Given the description of an element on the screen output the (x, y) to click on. 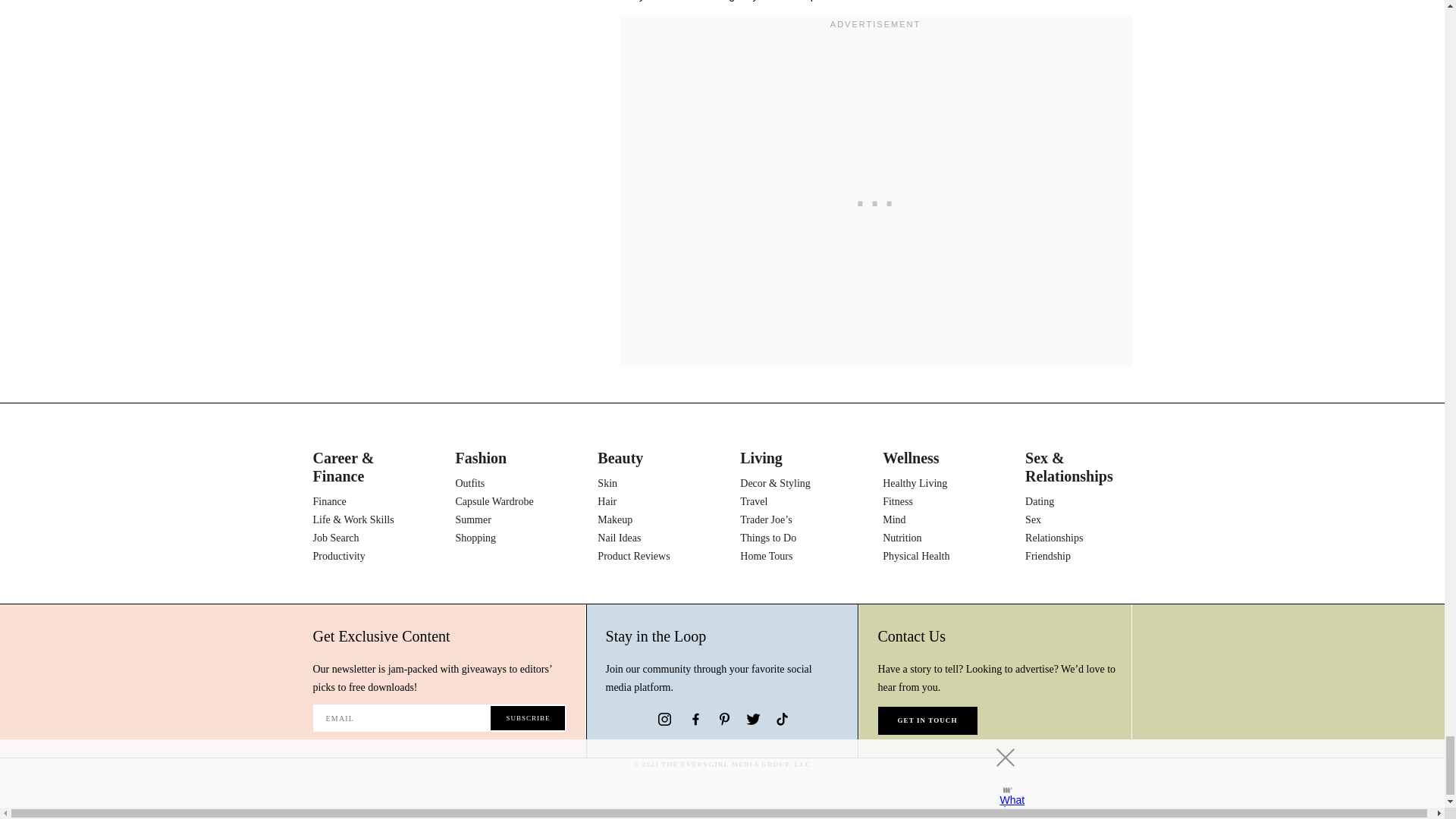
Subscribe (527, 717)
